Given the description of an element on the screen output the (x, y) to click on. 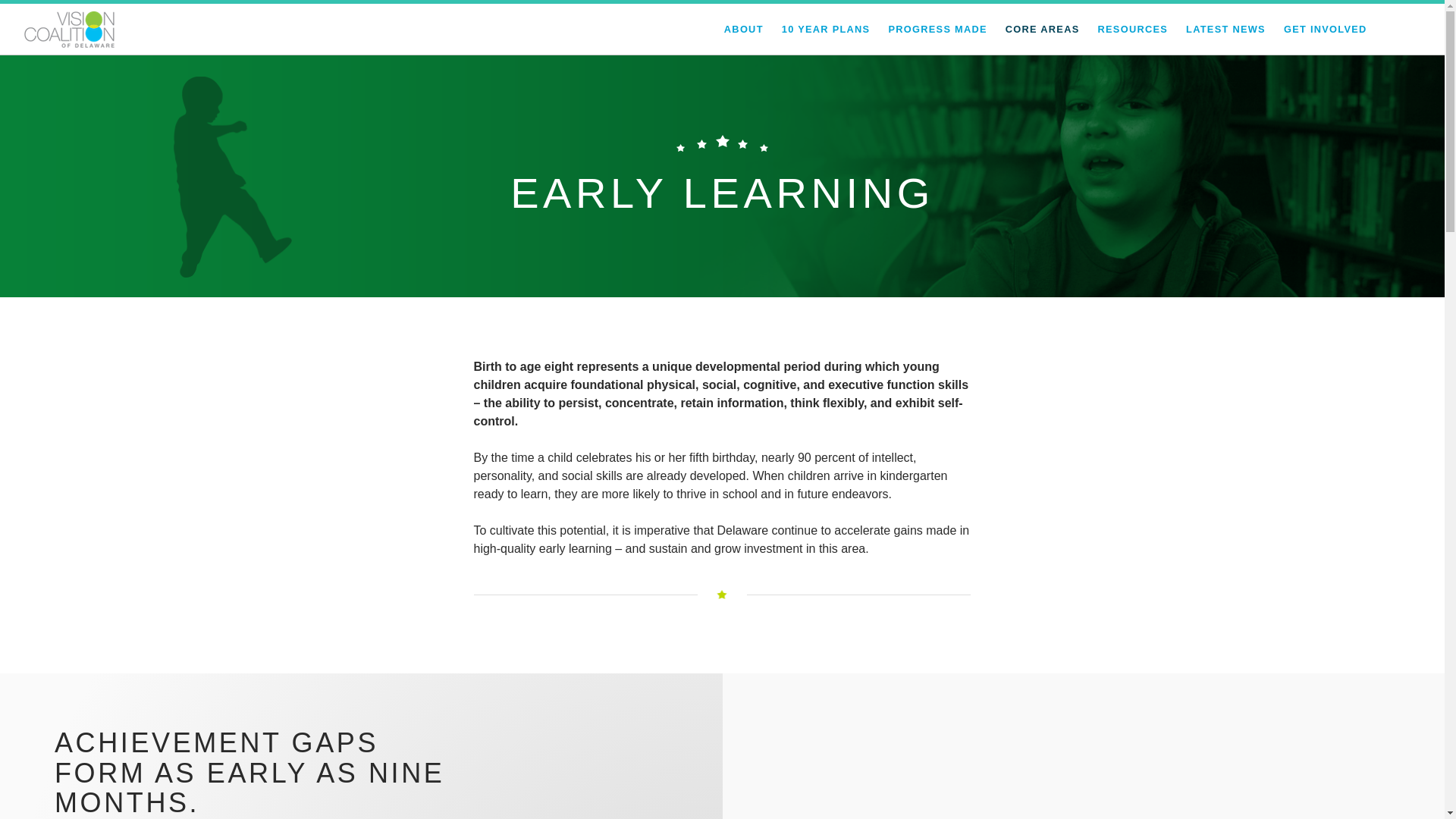
CORE AREAS (1043, 29)
GET INVOLVED (1325, 29)
RESOURCES (1133, 29)
LATEST NEWS (1225, 29)
ABOUT (742, 29)
PROGRESS MADE (937, 29)
10 YEAR PLANS (825, 29)
